Given the description of an element on the screen output the (x, y) to click on. 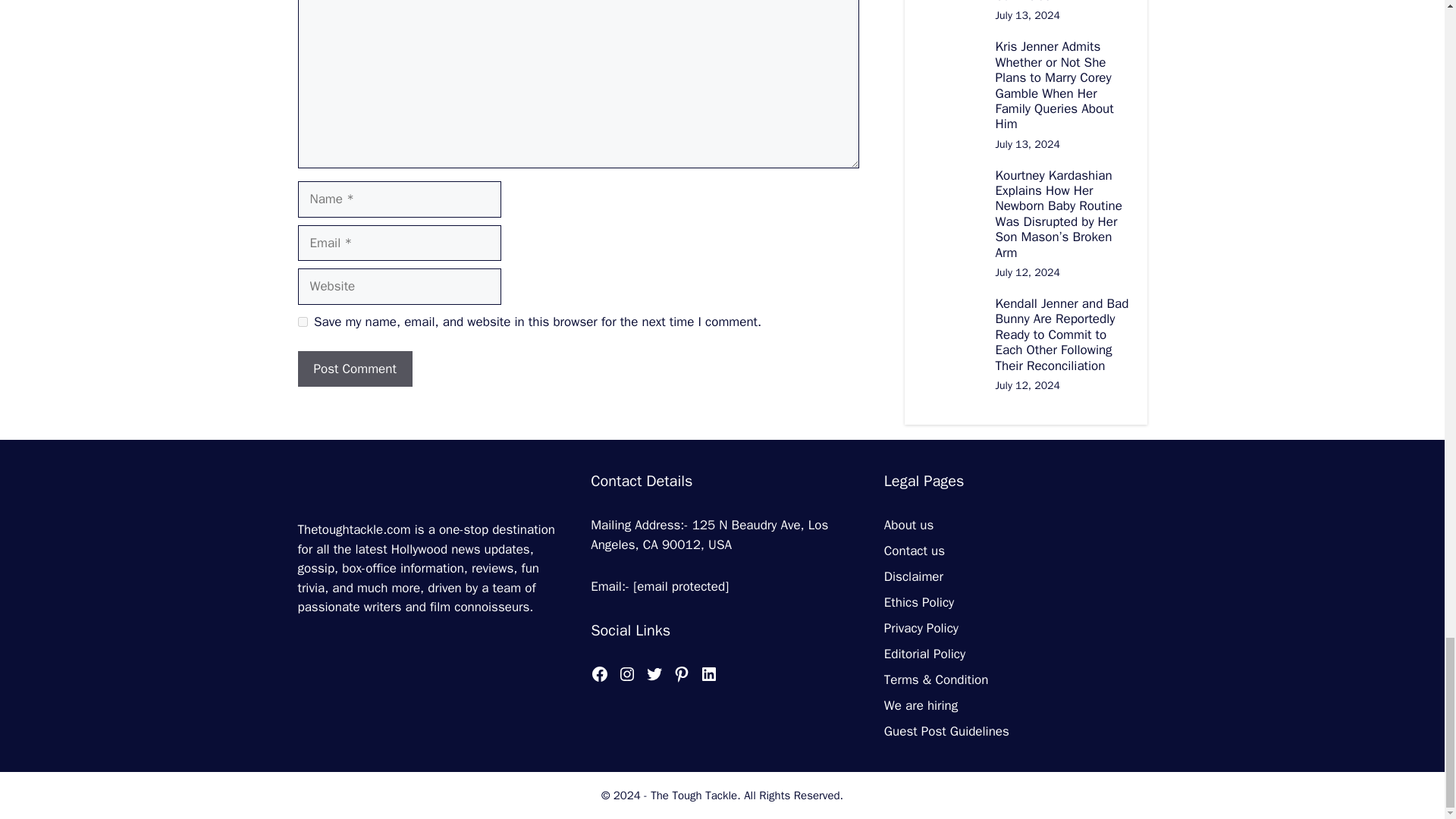
yes (302, 321)
Post Comment (354, 369)
